Given the description of an element on the screen output the (x, y) to click on. 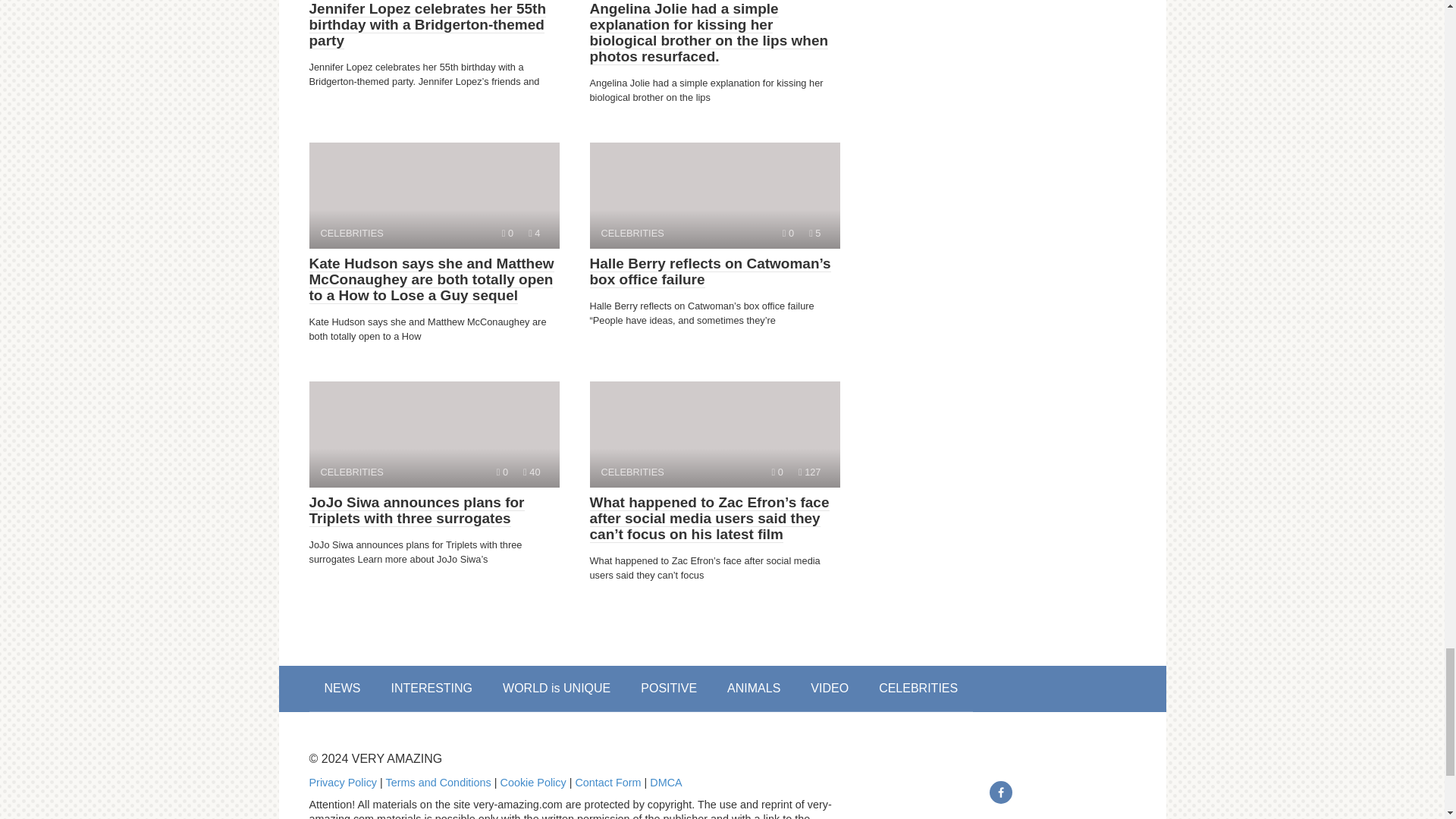
Views (433, 195)
JoJo Siwa announces plans for Triplets with three surrogates (433, 434)
Comments (809, 471)
Views (416, 510)
Views (788, 233)
Comments (714, 195)
Comments (815, 233)
Views (531, 471)
Comments (777, 471)
